Given the description of an element on the screen output the (x, y) to click on. 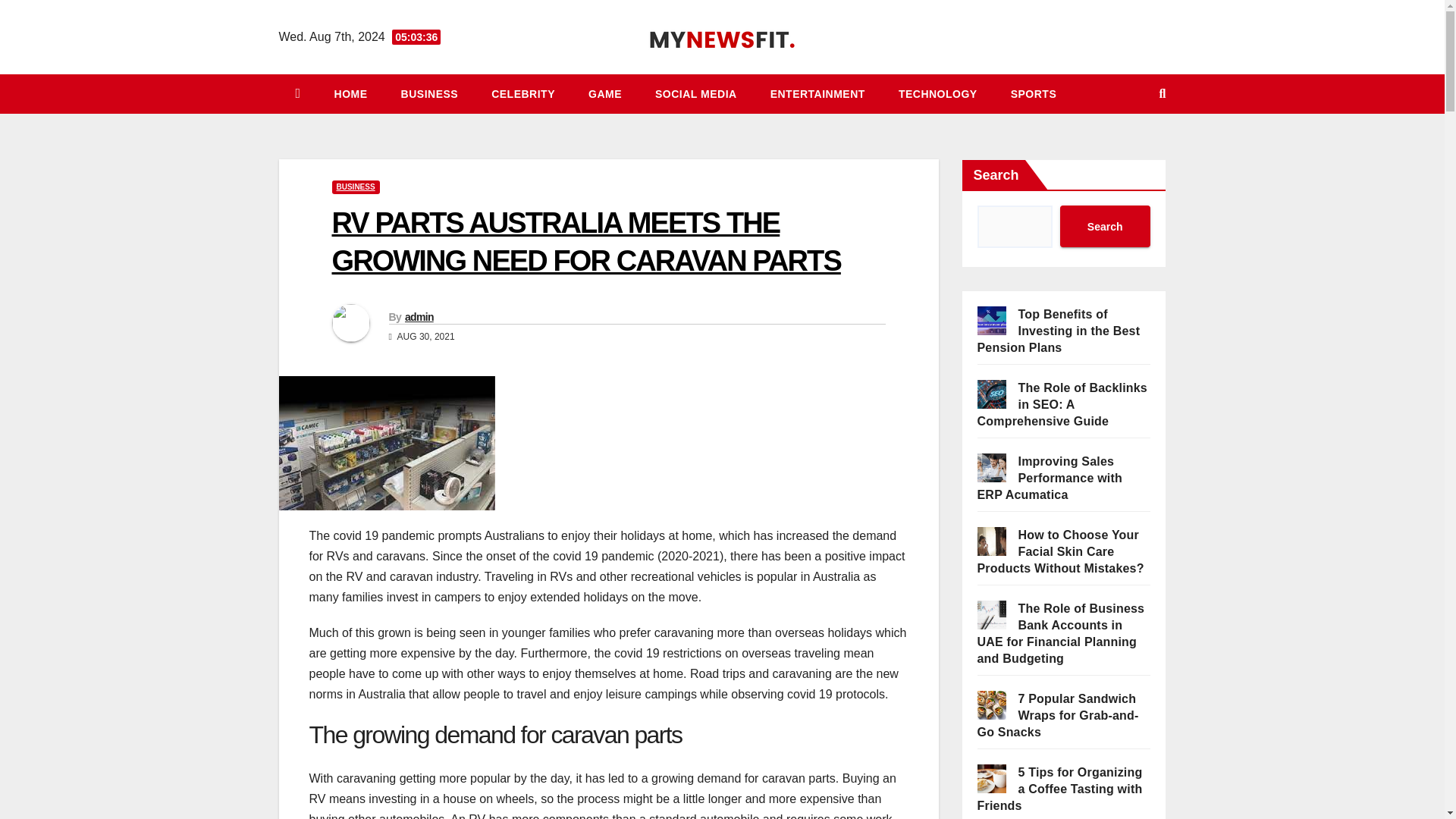
SOCIAL MEDIA (696, 93)
GAME (605, 93)
ENTERTAINMENT (818, 93)
Technology (938, 93)
Business (430, 93)
admin (418, 316)
TECHNOLOGY (938, 93)
BUSINESS (430, 93)
HOME (350, 93)
BUSINESS (355, 187)
Social Media (696, 93)
Home (350, 93)
Entertainment (818, 93)
Celebrity (523, 93)
